Given the description of an element on the screen output the (x, y) to click on. 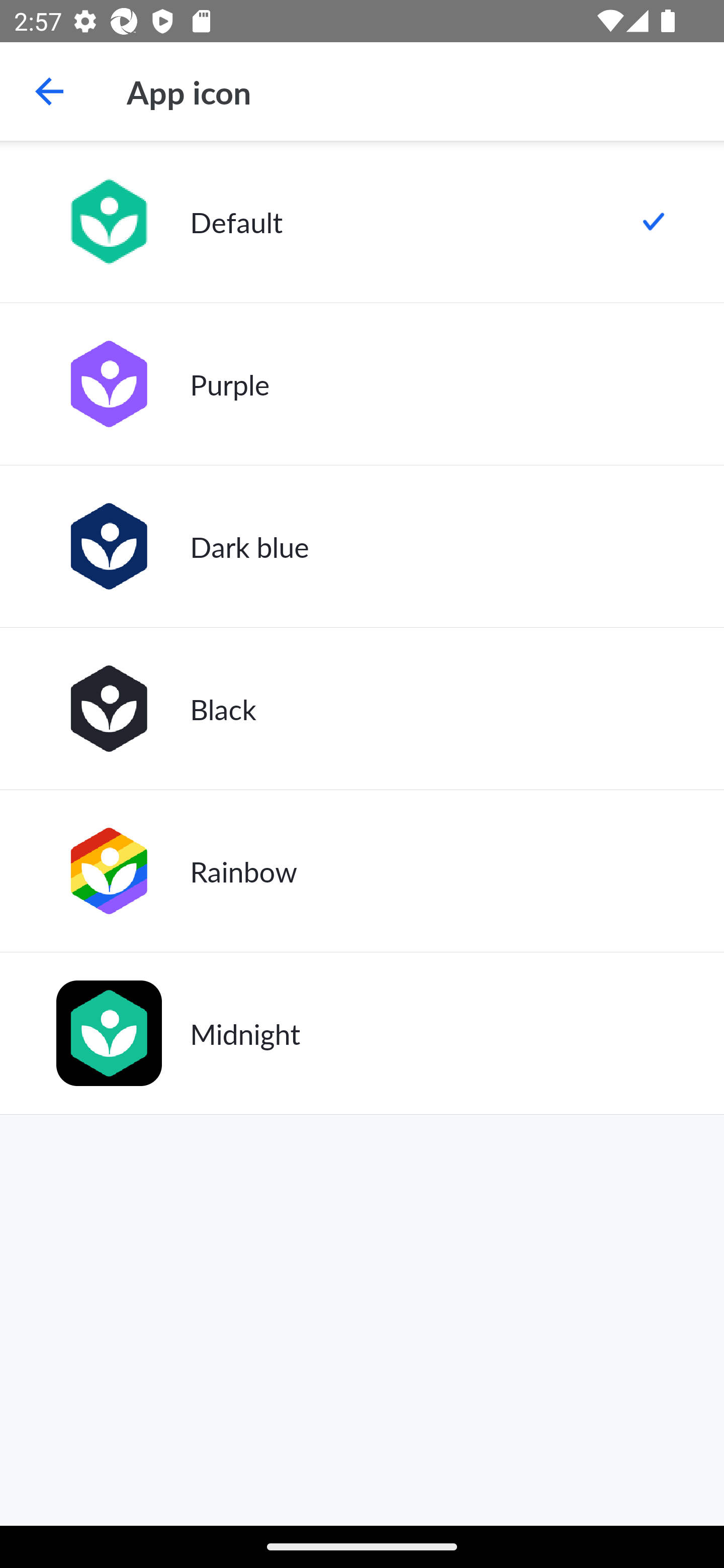
Navigate up (49, 91)
Default Checkmark (362, 221)
Purple (362, 383)
Dark blue (362, 546)
Black (362, 708)
Rainbow (362, 870)
Midnight (362, 1032)
